Given the description of an element on the screen output the (x, y) to click on. 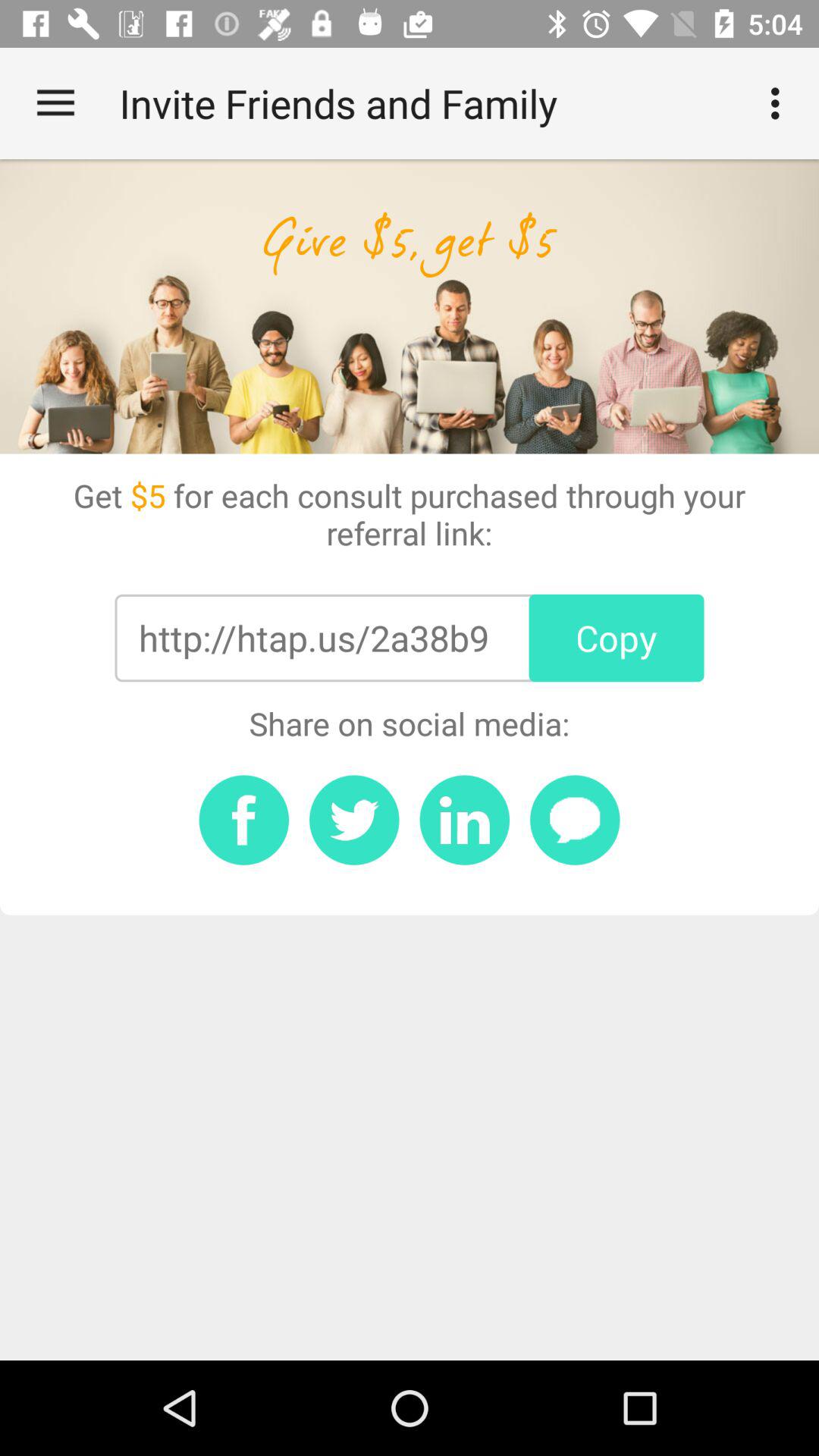
open a dialog box (574, 820)
